Given the description of an element on the screen output the (x, y) to click on. 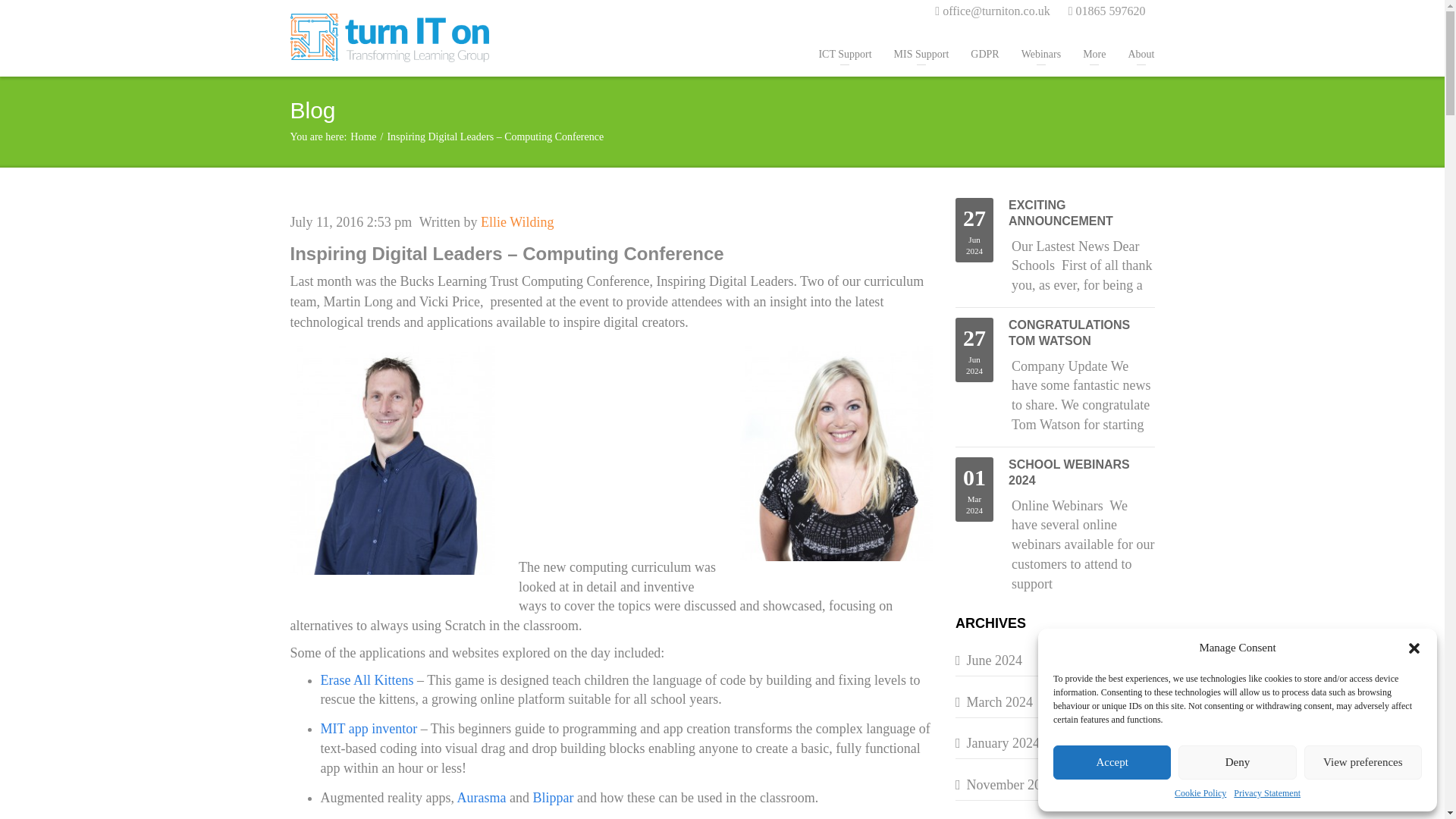
Webinars (1041, 55)
School Webinars 2024 (1054, 472)
MIS Support (921, 55)
Privacy Statement (1266, 793)
Accept (1111, 762)
Exciting Announcement (1054, 214)
Congratulations Tom Watson (1054, 333)
Posts by Ellie Wilding (516, 222)
01865 597620 (1106, 10)
Cookie Policy (1199, 793)
View preferences (1363, 762)
ICT Support (844, 55)
Home (362, 136)
Deny (1236, 762)
